Given the description of an element on the screen output the (x, y) to click on. 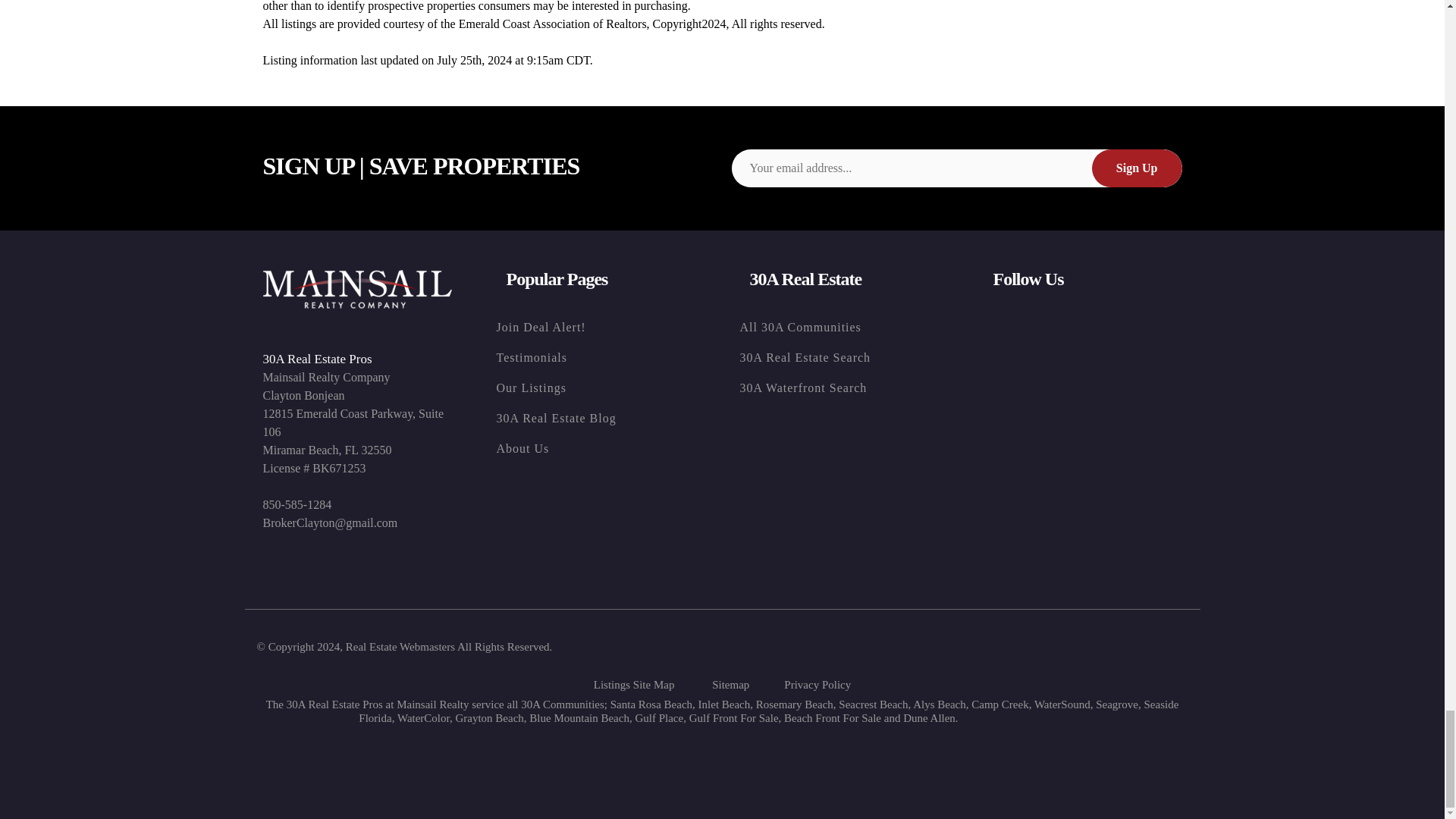
Site Logo (356, 289)
